Given the description of an element on the screen output the (x, y) to click on. 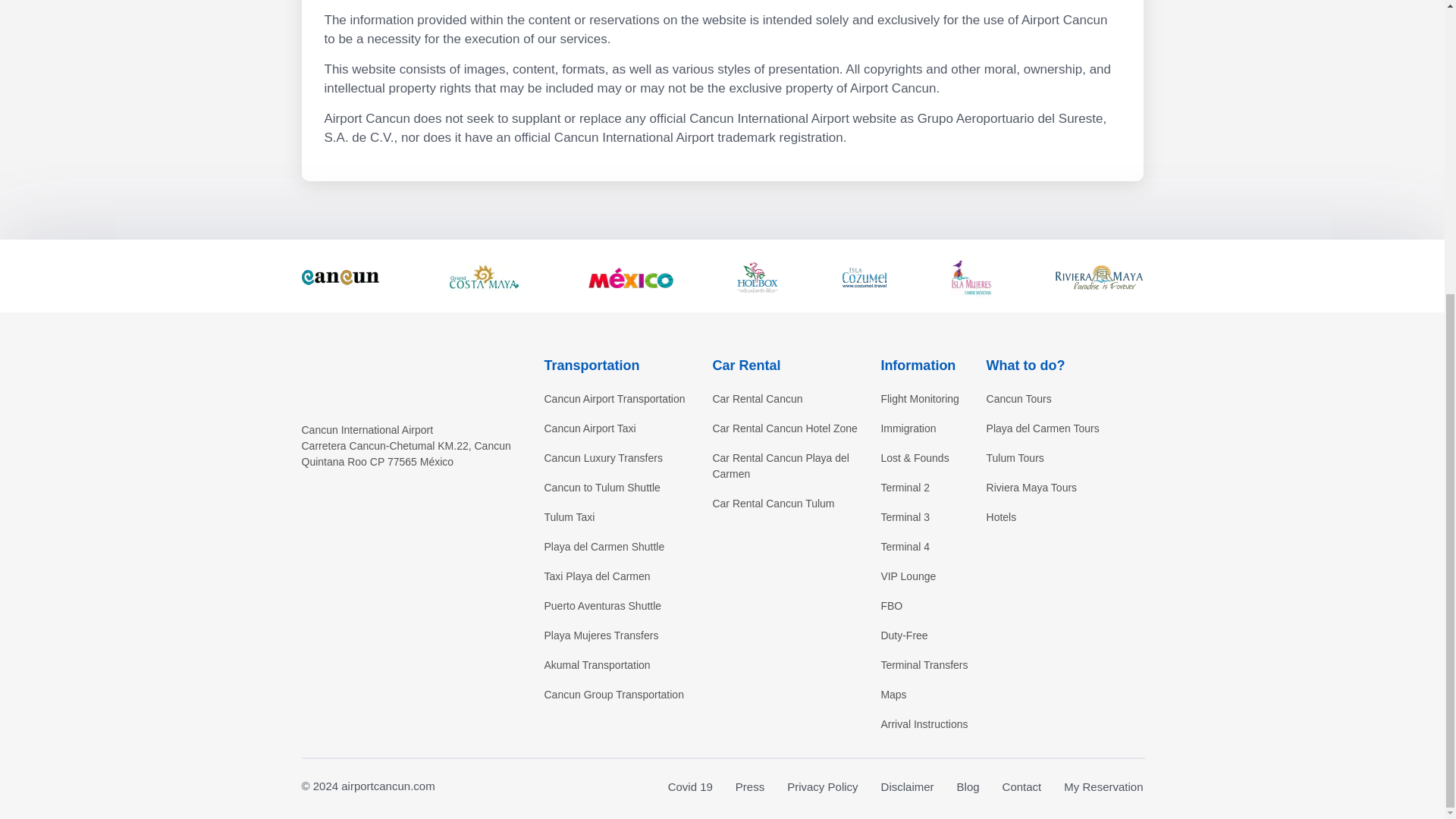
Cancun Luxury Transfers (622, 458)
Cancun Airport Transportation (622, 399)
Cancun Airport Taxi (622, 428)
